Given the description of an element on the screen output the (x, y) to click on. 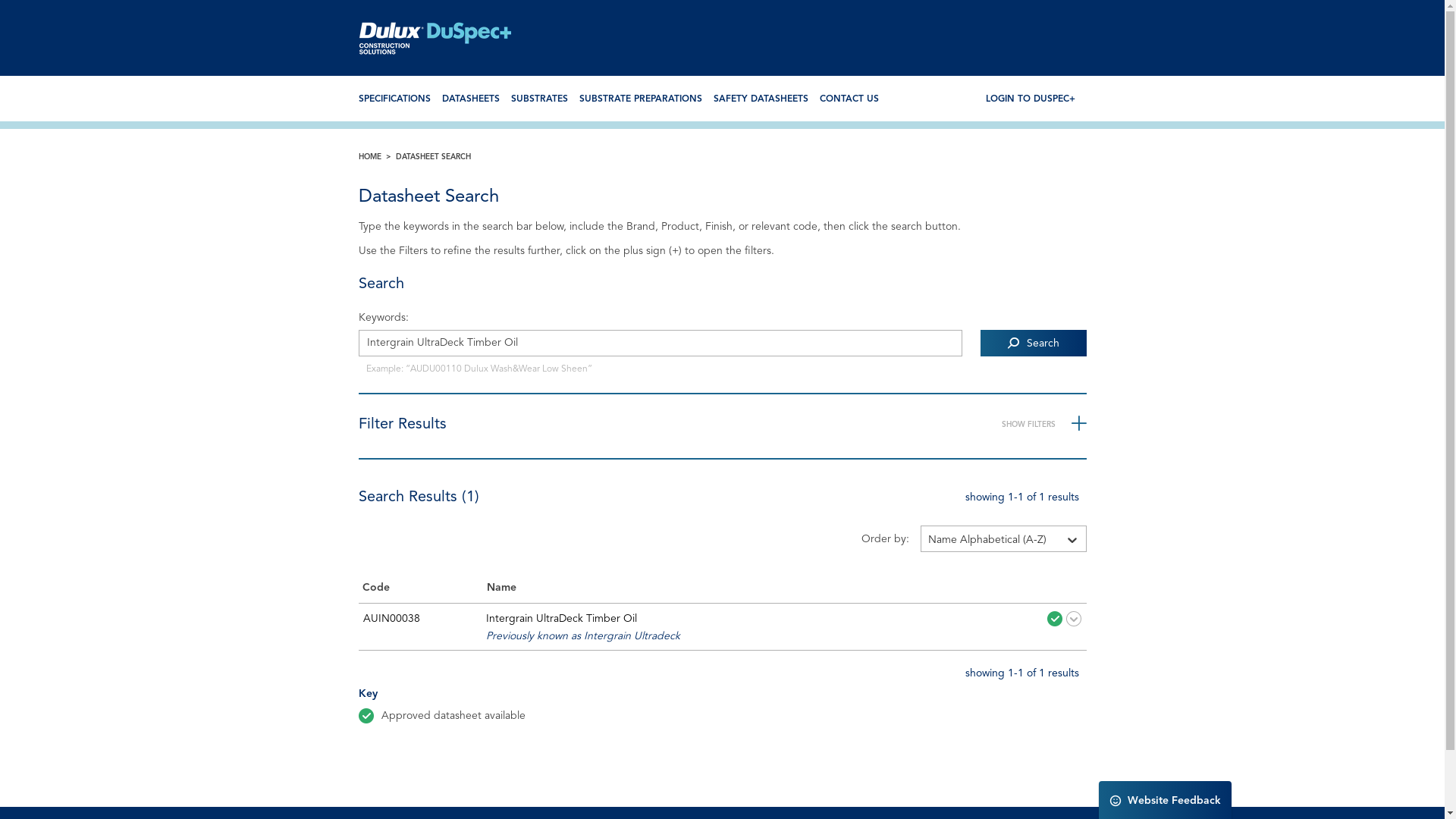
SUBSTRATE PREPARATIONS Element type: text (640, 98)
SUBSTRATES Element type: text (539, 98)
Search Element type: text (1032, 342)
SAFETY DATASHEETS Element type: text (759, 98)
HOME Element type: text (376, 156)
LOGIN TO DUSPEC+ Element type: text (1030, 98)
CONTACT US Element type: text (848, 98)
SPECIFICATIONS Element type: text (393, 98)
DATASHEETS Element type: text (469, 98)
